Given the description of an element on the screen output the (x, y) to click on. 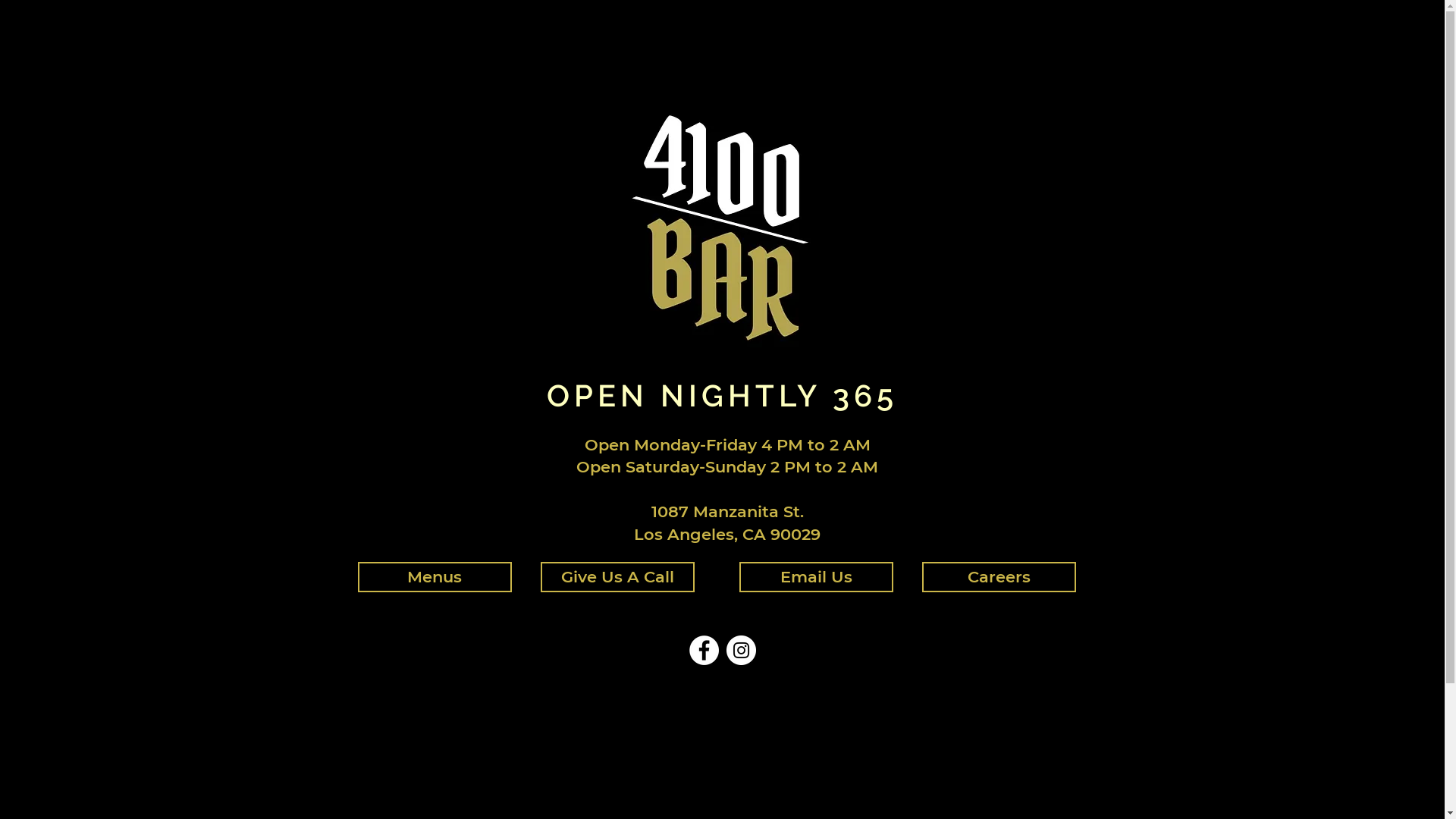
Careers Element type: text (999, 576)
Email Us Element type: text (815, 576)
Menus Element type: text (434, 576)
Give Us A Call Element type: text (616, 576)
